Given the description of an element on the screen output the (x, y) to click on. 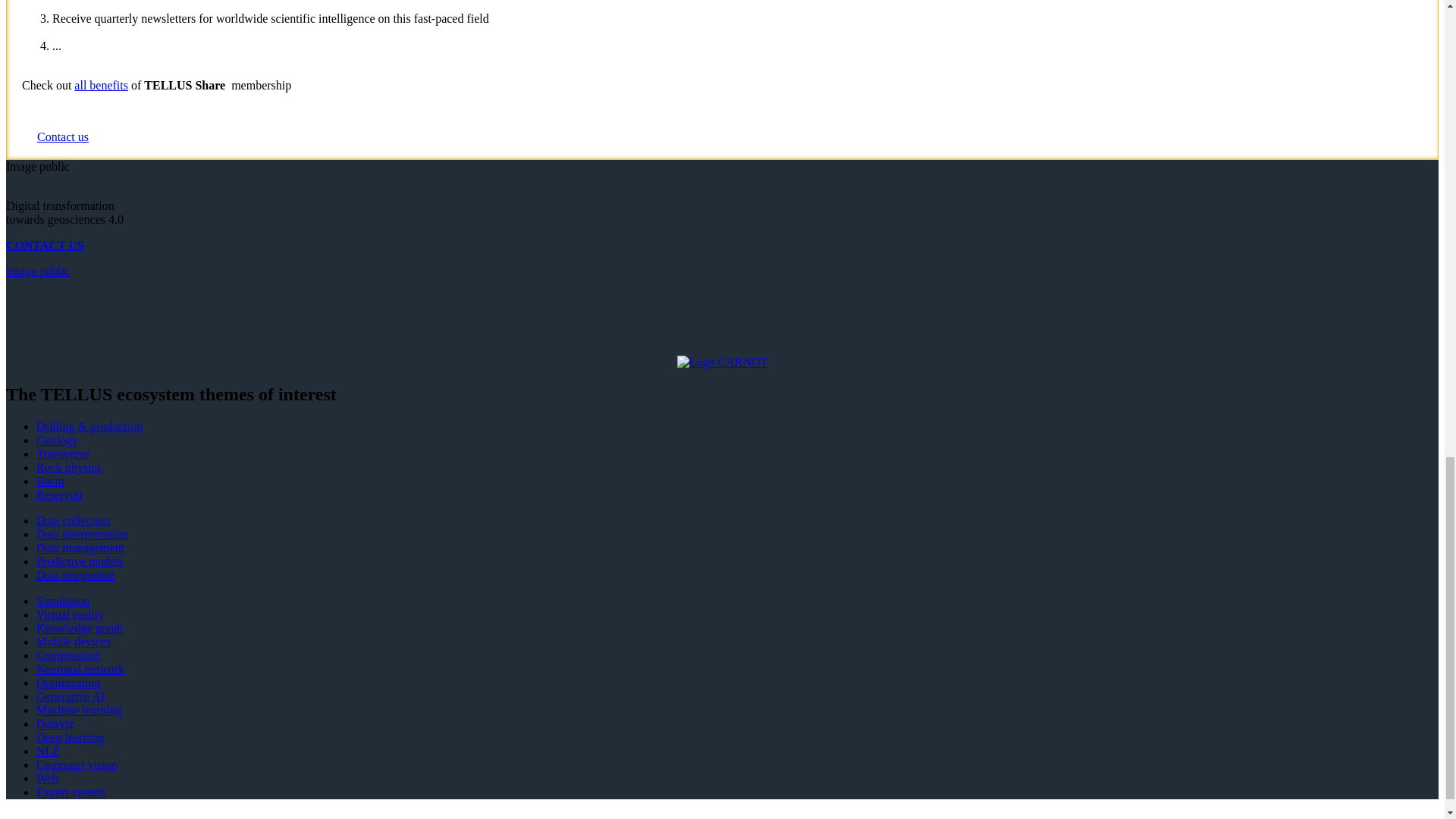
Virtual reality (69, 614)
Data collection (73, 520)
Neuronal network (79, 668)
IFPEN ressources energetiques Carnot institute (722, 361)
Contact us (62, 136)
Compression (68, 655)
Data management (79, 547)
Knowledge graph (79, 627)
Basin (50, 481)
Predictive models (79, 561)
